Given the description of an element on the screen output the (x, y) to click on. 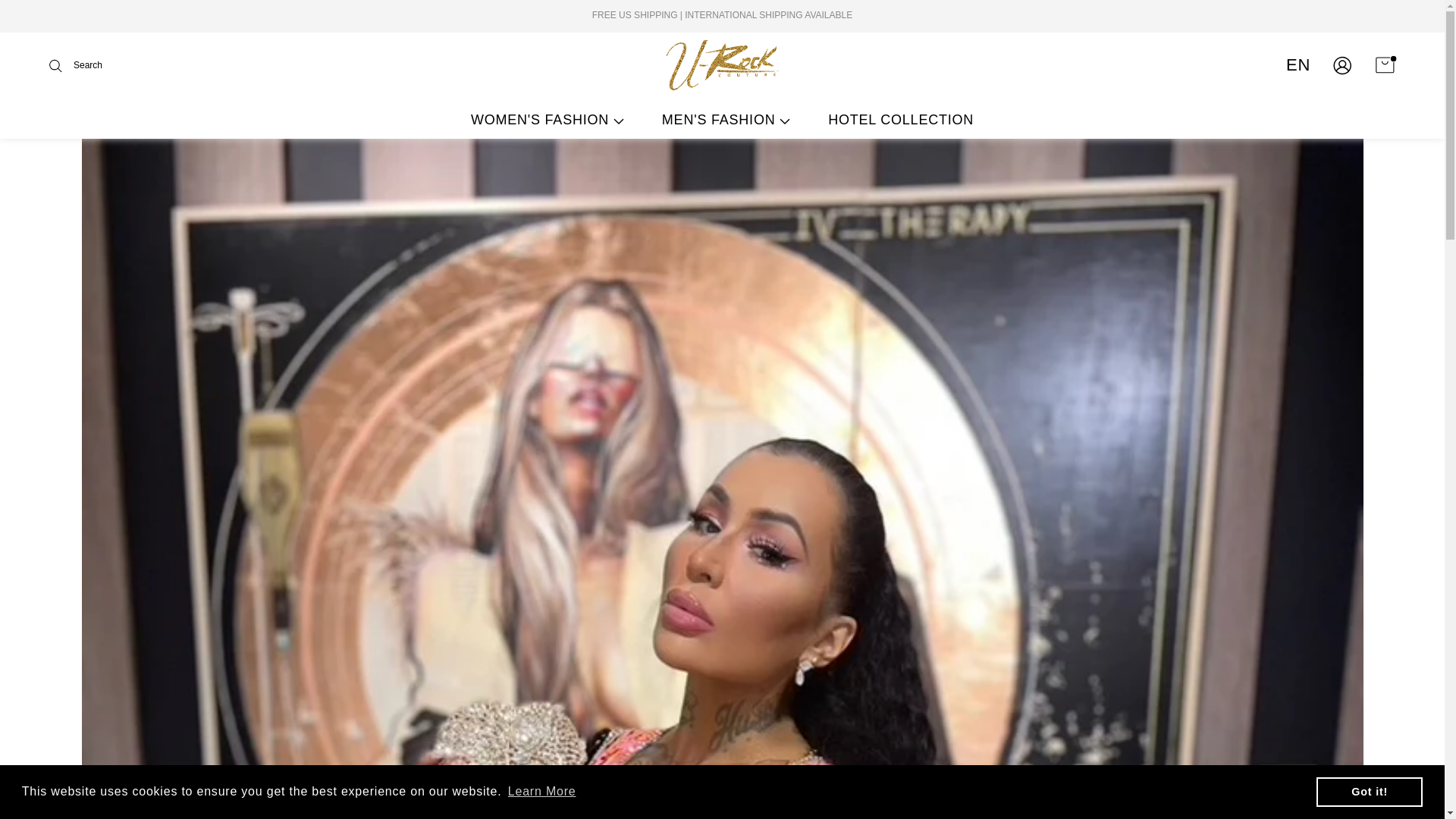
Got it! (1369, 791)
Skip to content (59, 22)
Learn More (541, 791)
